Given the description of an element on the screen output the (x, y) to click on. 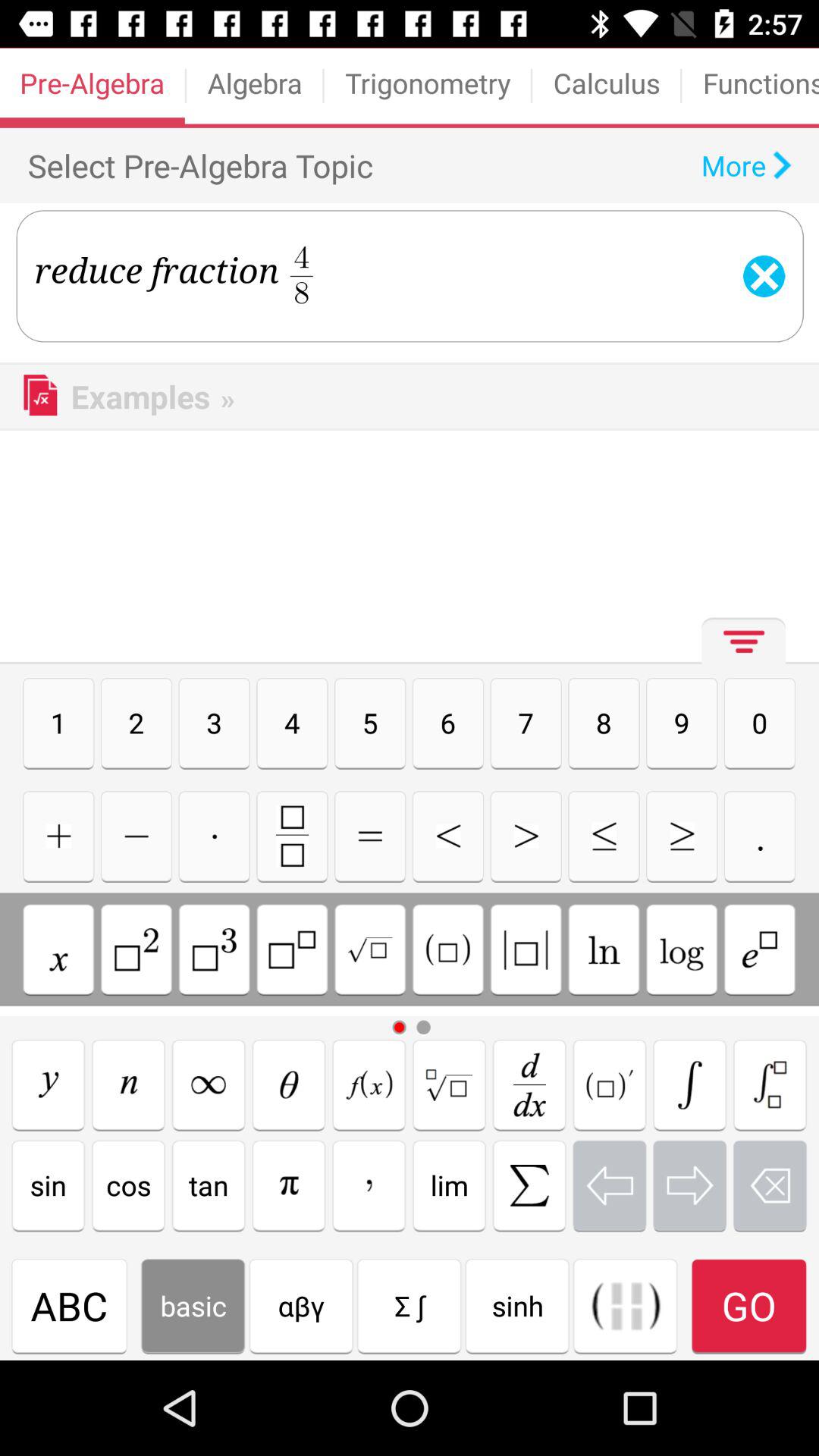
create fraction (292, 835)
